Given the description of an element on the screen output the (x, y) to click on. 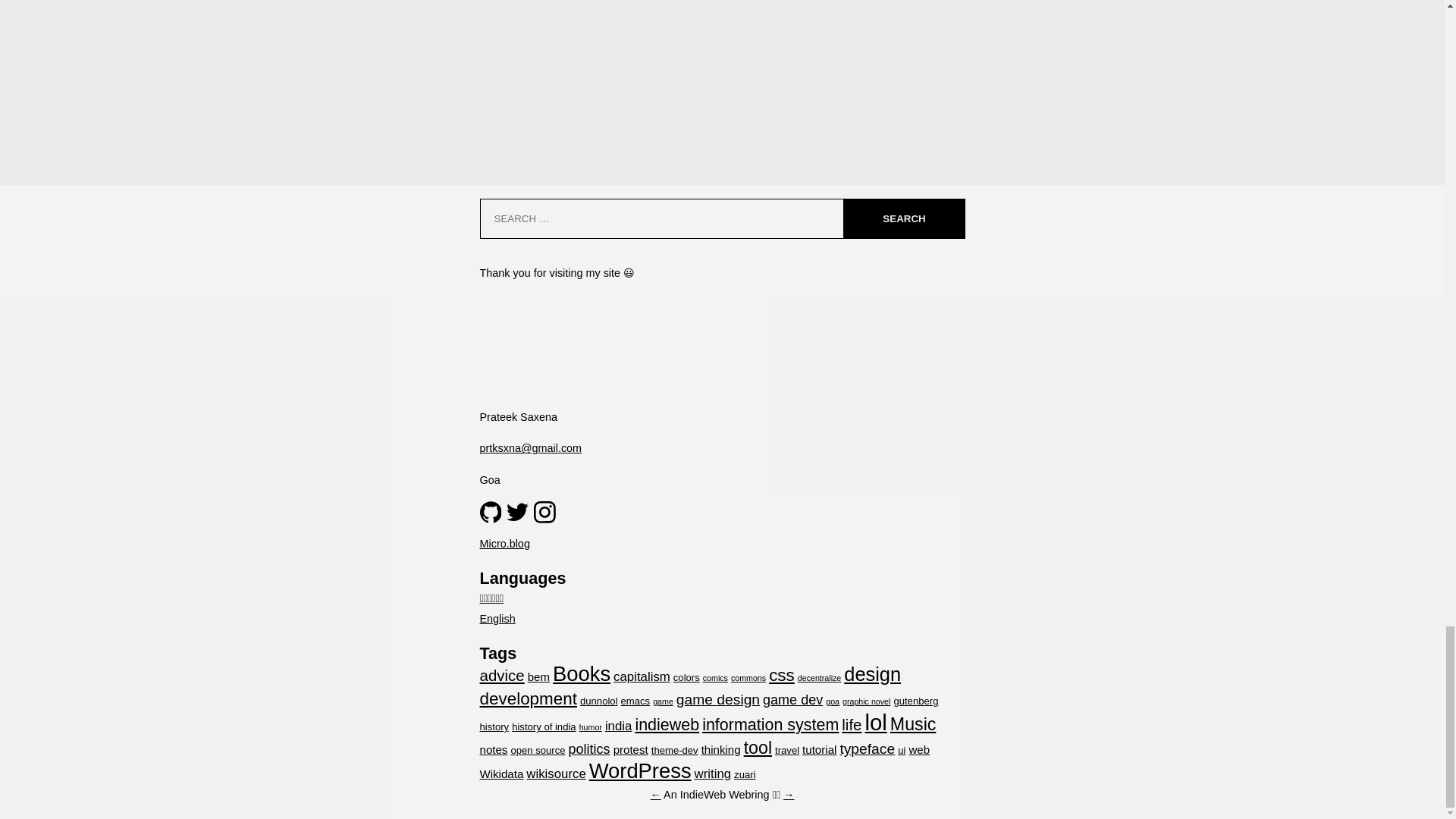
GitHub (489, 512)
Search (903, 219)
advice (501, 674)
Instagram (545, 510)
English (497, 618)
bem (538, 676)
Instagram (545, 512)
capitalism (640, 676)
GitHub (489, 510)
comics (715, 677)
